Given the description of an element on the screen output the (x, y) to click on. 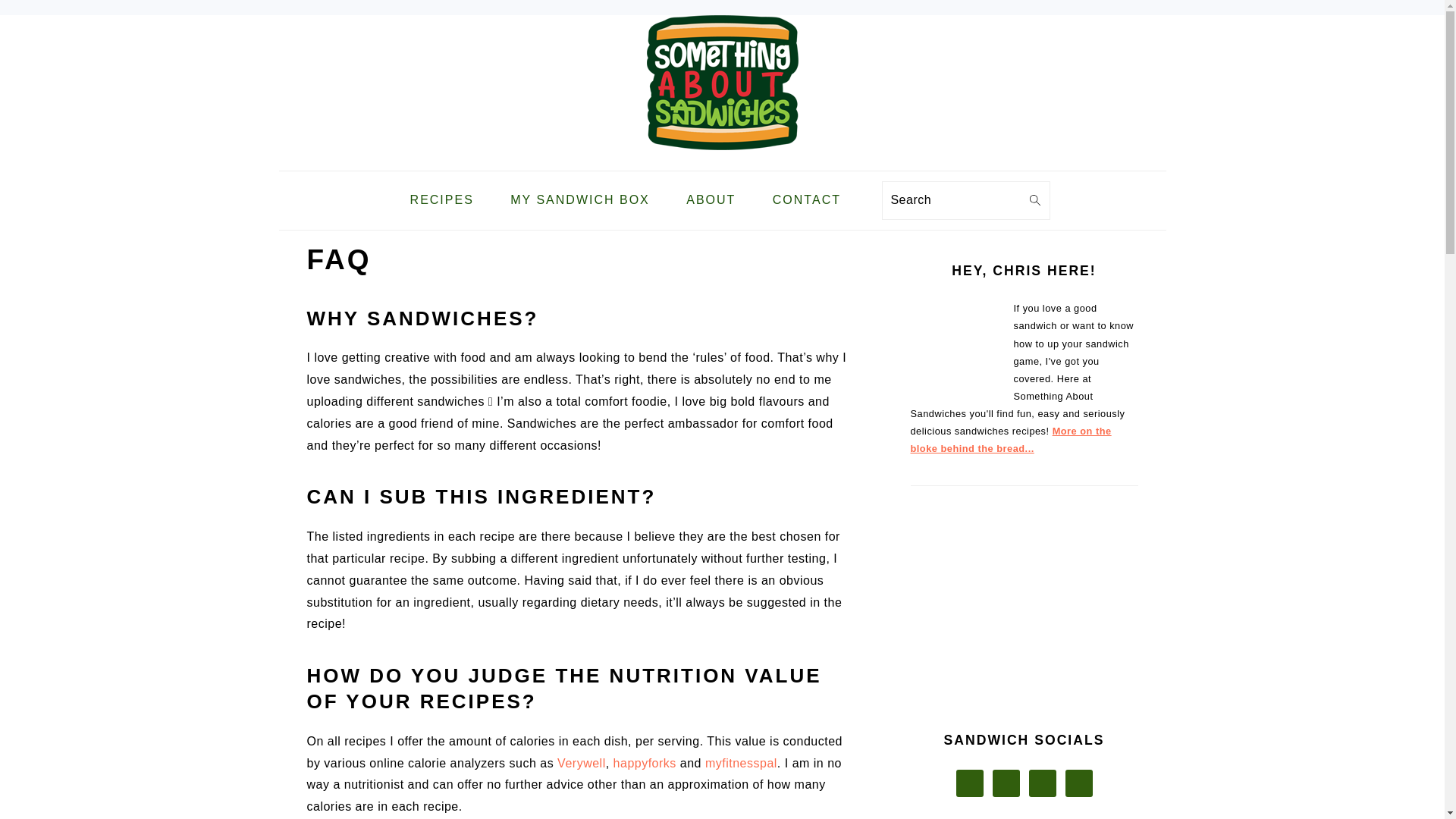
MY SANDWICH BOX (580, 200)
Something About Sandwiches (721, 82)
happyforks (644, 762)
myfitnesspal (740, 762)
Verywell (581, 762)
Something About Sandwiches (721, 158)
More on the bloke behind the bread... (1010, 439)
